Given the description of an element on the screen output the (x, y) to click on. 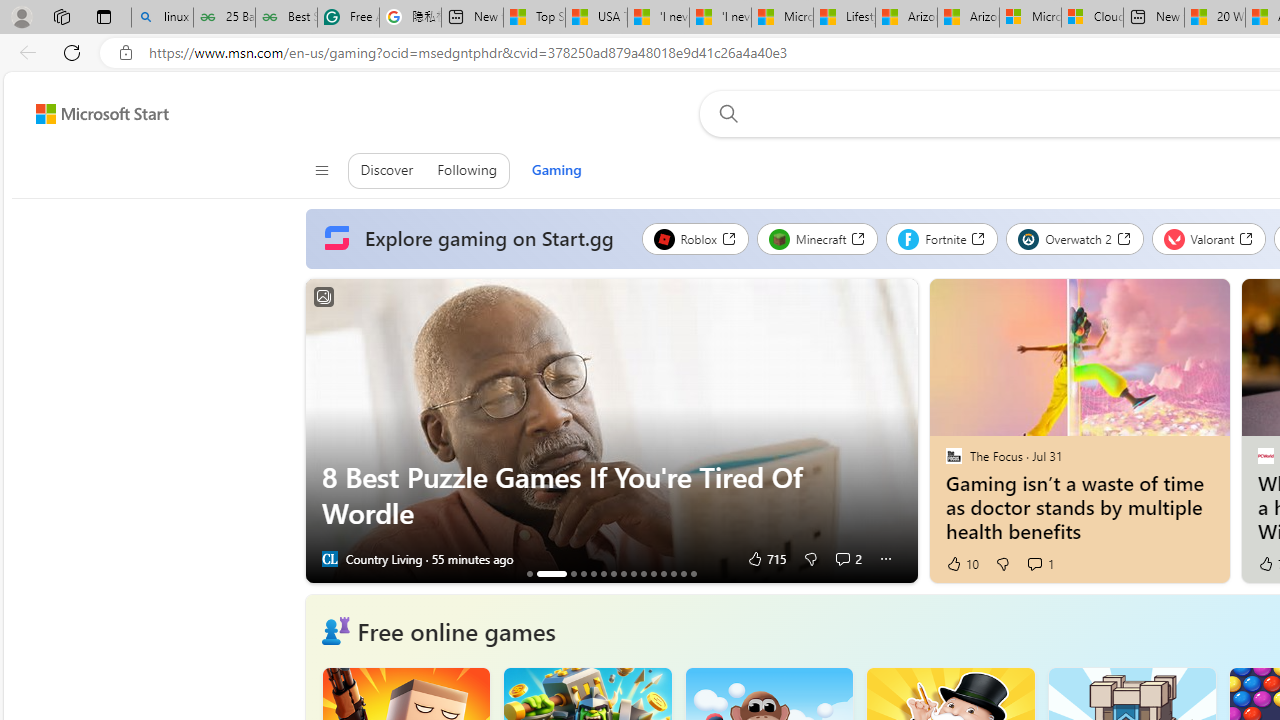
Valorant (1208, 238)
Next slide (902, 431)
How Shein Is Revolutionizing The Fashion Industry? (593, 573)
View comments 2 Comment (842, 558)
Class: control icon-only (320, 170)
8 Best Puzzle Games If You're Tired Of Wordle (611, 495)
Previous slide (319, 431)
